Given the description of an element on the screen output the (x, y) to click on. 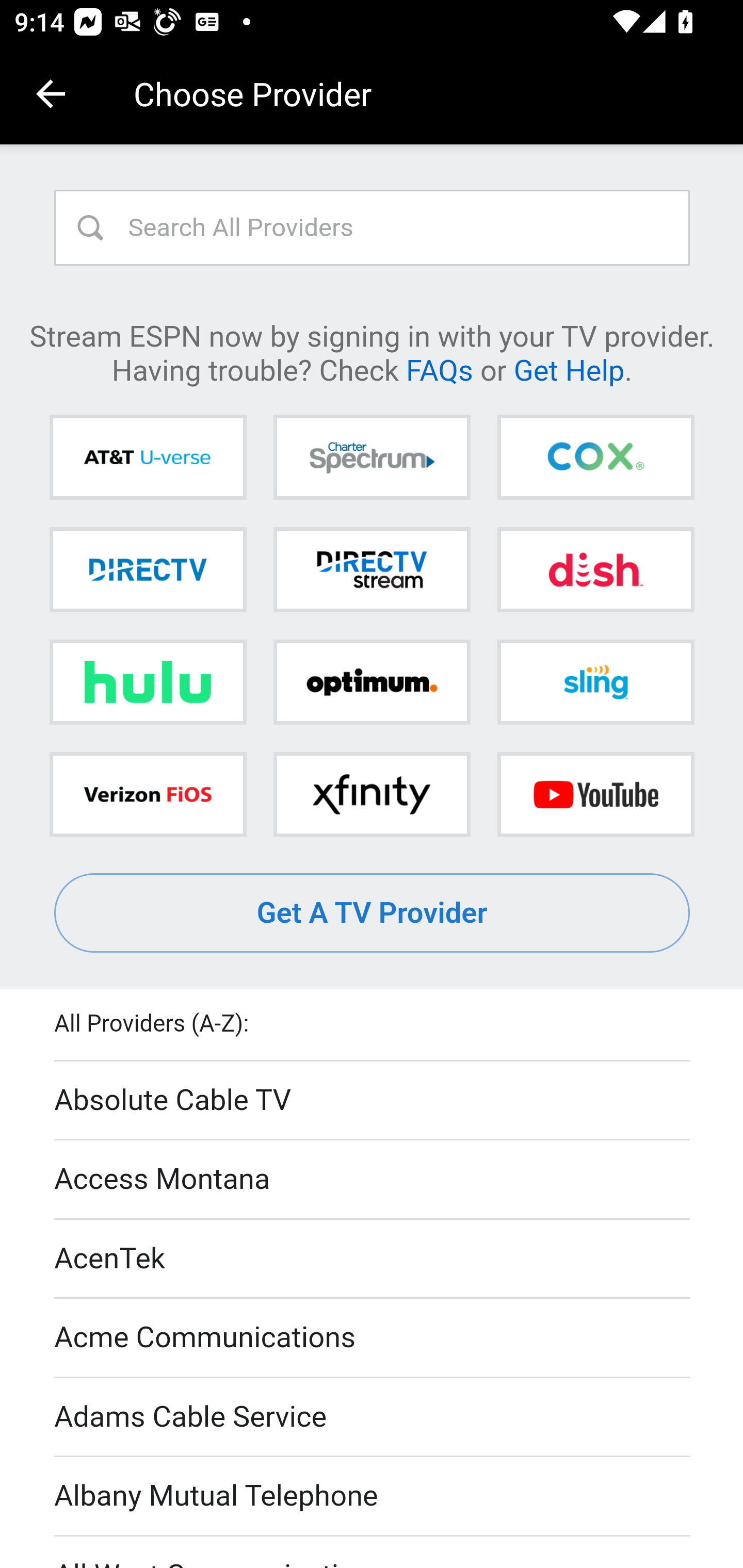
Navigate up (50, 93)
FAQs (438, 369)
Get Help (569, 369)
AT&T U-verse (147, 457)
Charter Spectrum (371, 457)
Cox (595, 457)
DIRECTV (147, 568)
DIRECTV STREAM (371, 568)
DISH (595, 568)
Hulu (147, 681)
Optimum (371, 681)
Sling TV (595, 681)
Verizon FiOS (147, 793)
Xfinity (371, 793)
YouTube TV (595, 793)
Get A TV Provider (372, 912)
Absolute Cable TV (372, 1100)
Access Montana (372, 1178)
AcenTek (372, 1258)
Acme Communications (372, 1338)
Adams Cable Service (372, 1417)
Albany Mutual Telephone (372, 1497)
